Given the description of an element on the screen output the (x, y) to click on. 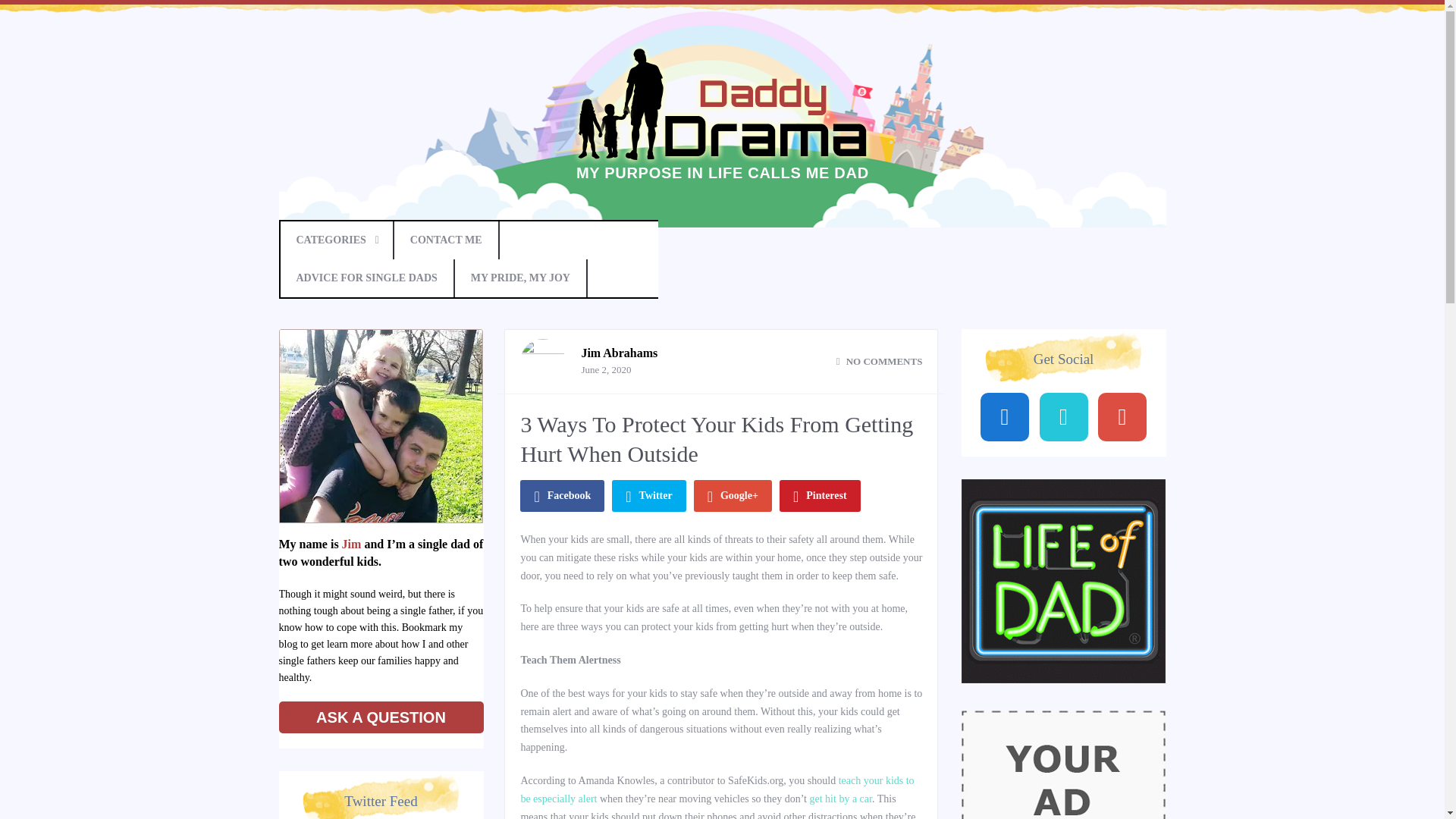
ADVICE FOR SINGLE DADS (367, 278)
CONTACT ME (446, 240)
get hit by a car (840, 798)
Twitter (648, 495)
MY PRIDE, MY JOY (521, 278)
Jim Abrahams (619, 352)
Facebook (561, 495)
CATEGORIES (337, 240)
Pinterest (819, 495)
teach your kids to be especially alert (716, 789)
